Given the description of an element on the screen output the (x, y) to click on. 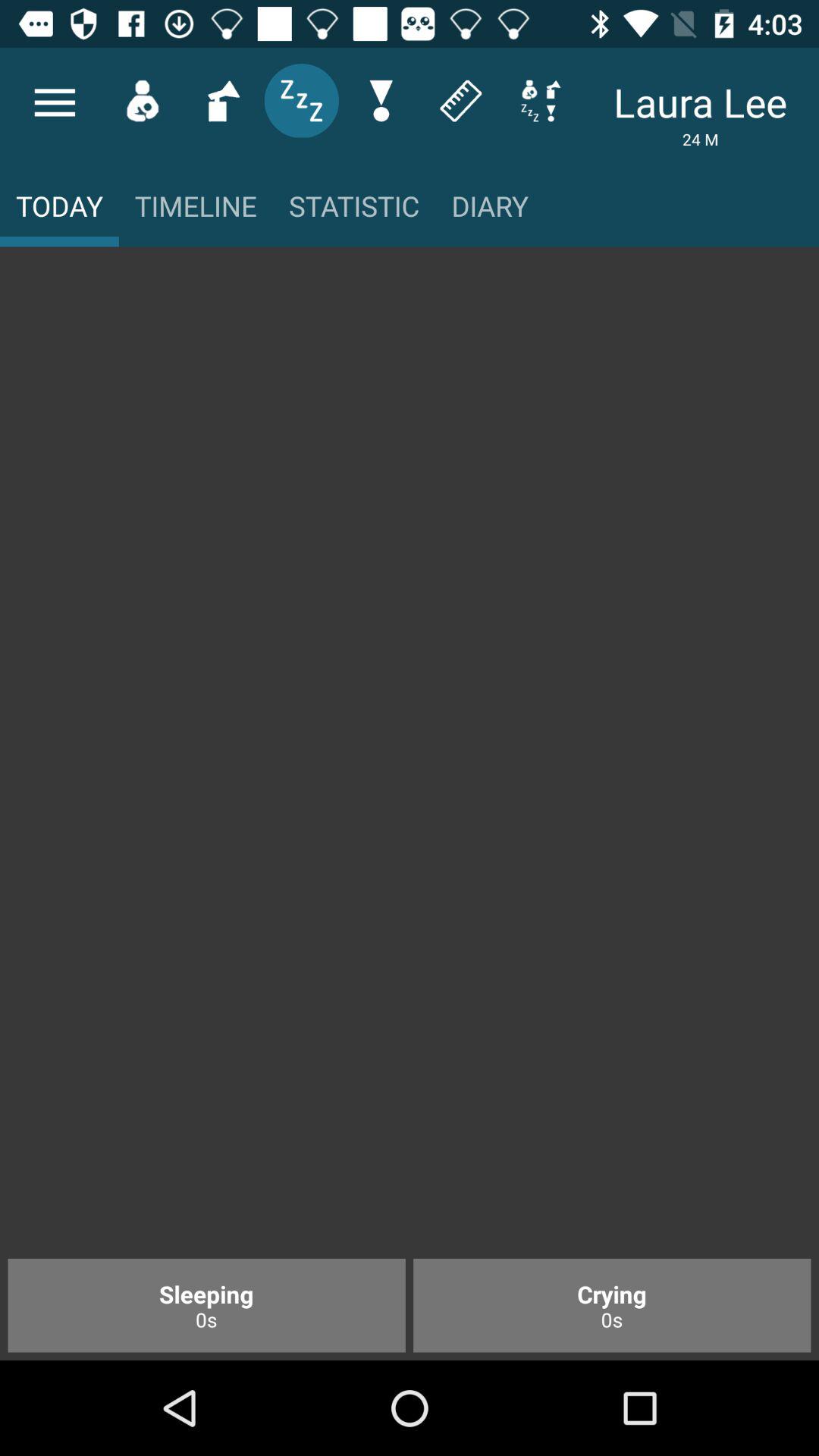
launch item next to the crying
0s item (206, 1305)
